Given the description of an element on the screen output the (x, y) to click on. 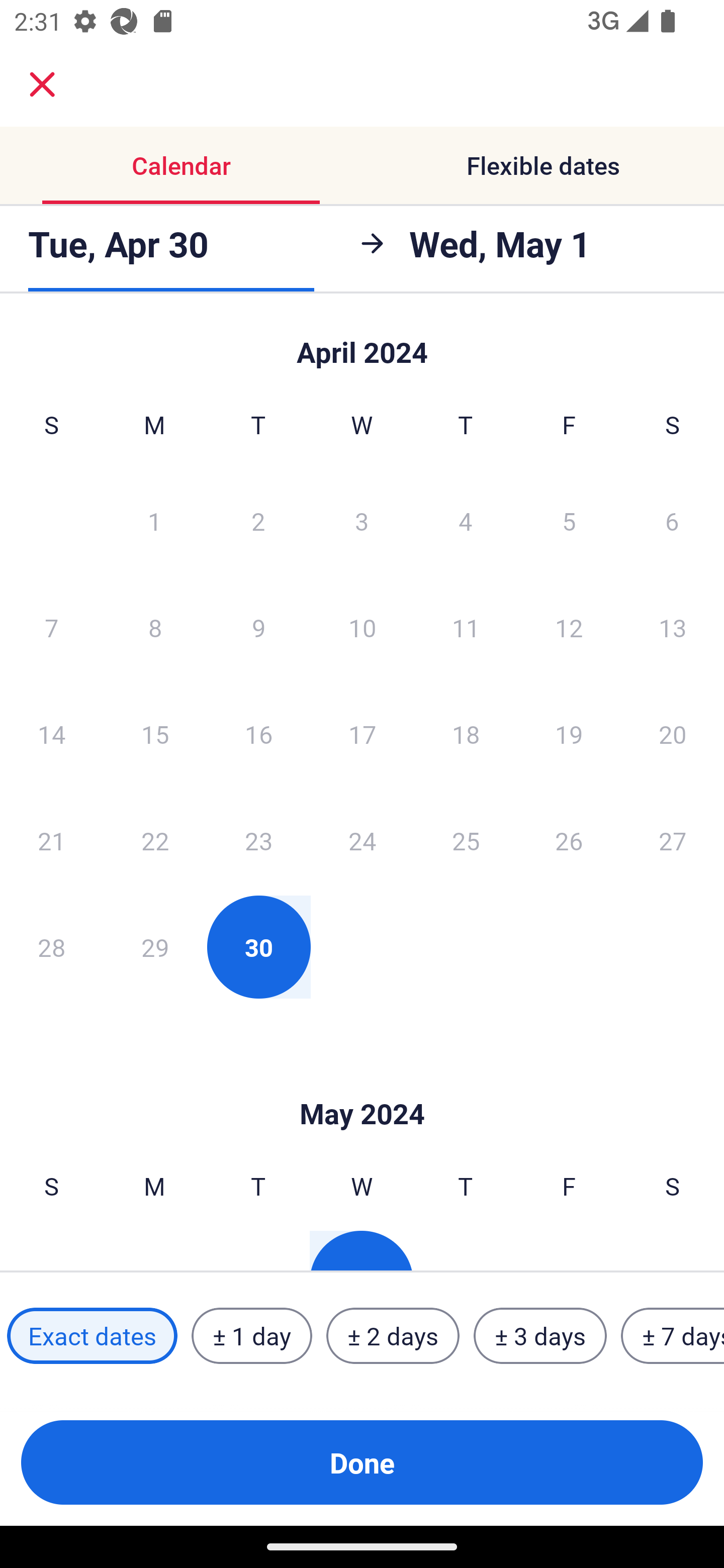
close. (42, 84)
Flexible dates (542, 164)
Skip to Done (362, 343)
1 Monday, April 1, 2024 (154, 520)
2 Tuesday, April 2, 2024 (257, 520)
3 Wednesday, April 3, 2024 (361, 520)
4 Thursday, April 4, 2024 (465, 520)
5 Friday, April 5, 2024 (568, 520)
6 Saturday, April 6, 2024 (672, 520)
7 Sunday, April 7, 2024 (51, 626)
8 Monday, April 8, 2024 (155, 626)
9 Tuesday, April 9, 2024 (258, 626)
10 Wednesday, April 10, 2024 (362, 626)
11 Thursday, April 11, 2024 (465, 626)
12 Friday, April 12, 2024 (569, 626)
13 Saturday, April 13, 2024 (672, 626)
14 Sunday, April 14, 2024 (51, 733)
15 Monday, April 15, 2024 (155, 733)
16 Tuesday, April 16, 2024 (258, 733)
17 Wednesday, April 17, 2024 (362, 733)
18 Thursday, April 18, 2024 (465, 733)
19 Friday, April 19, 2024 (569, 733)
20 Saturday, April 20, 2024 (672, 733)
21 Sunday, April 21, 2024 (51, 840)
22 Monday, April 22, 2024 (155, 840)
23 Tuesday, April 23, 2024 (258, 840)
24 Wednesday, April 24, 2024 (362, 840)
25 Thursday, April 25, 2024 (465, 840)
26 Friday, April 26, 2024 (569, 840)
27 Saturday, April 27, 2024 (672, 840)
28 Sunday, April 28, 2024 (51, 946)
29 Monday, April 29, 2024 (155, 946)
Skip to Done (362, 1083)
Exact dates (92, 1335)
± 1 day (251, 1335)
± 2 days (392, 1335)
± 3 days (539, 1335)
± 7 days (672, 1335)
Done (361, 1462)
